Given the description of an element on the screen output the (x, y) to click on. 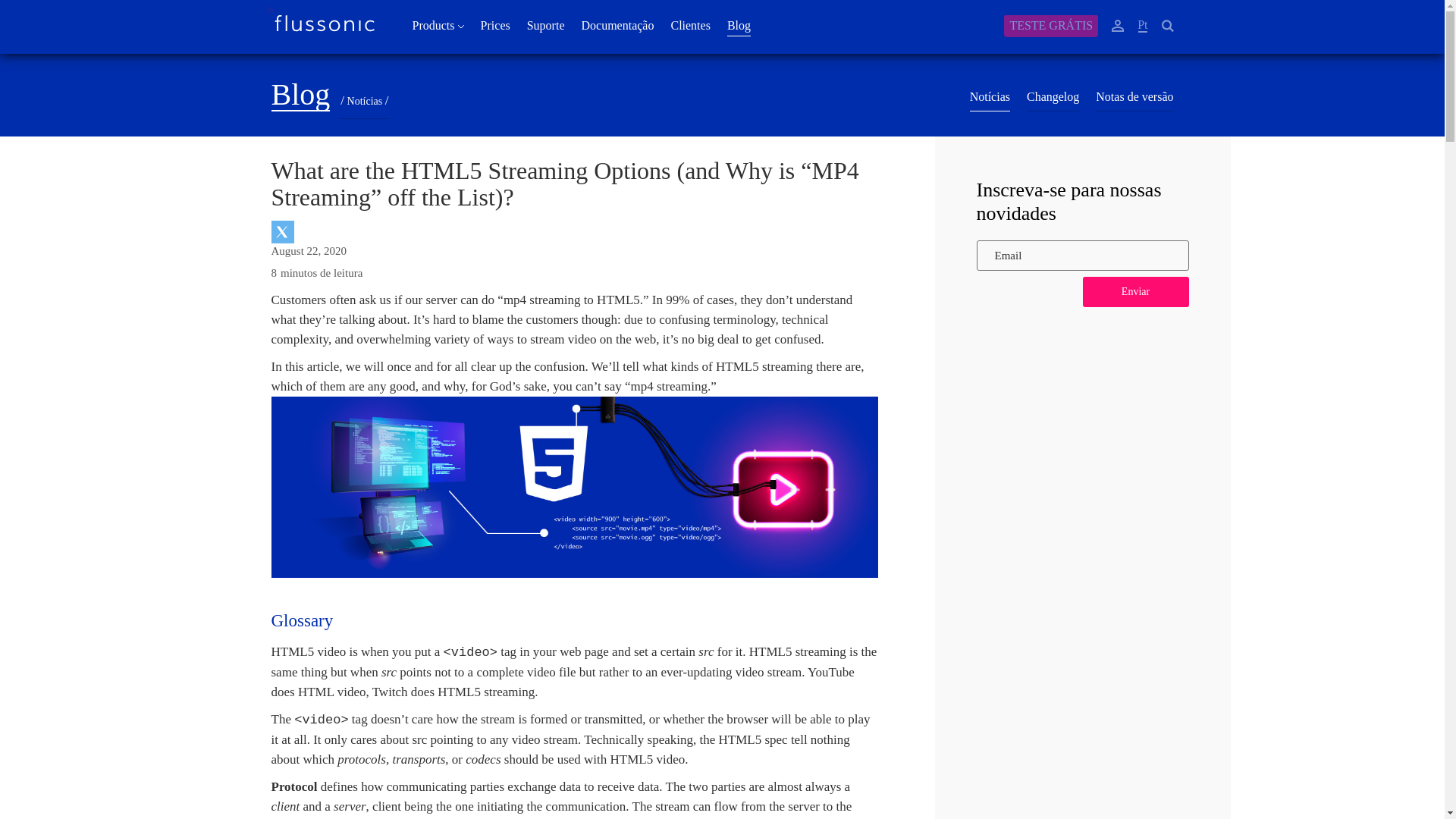
Blog (738, 25)
Clientes (689, 25)
Prices (495, 25)
Clientes (689, 25)
Suporte (545, 25)
Blog (738, 25)
Prices (495, 25)
Suporte (545, 25)
Products (438, 25)
